Given the description of an element on the screen output the (x, y) to click on. 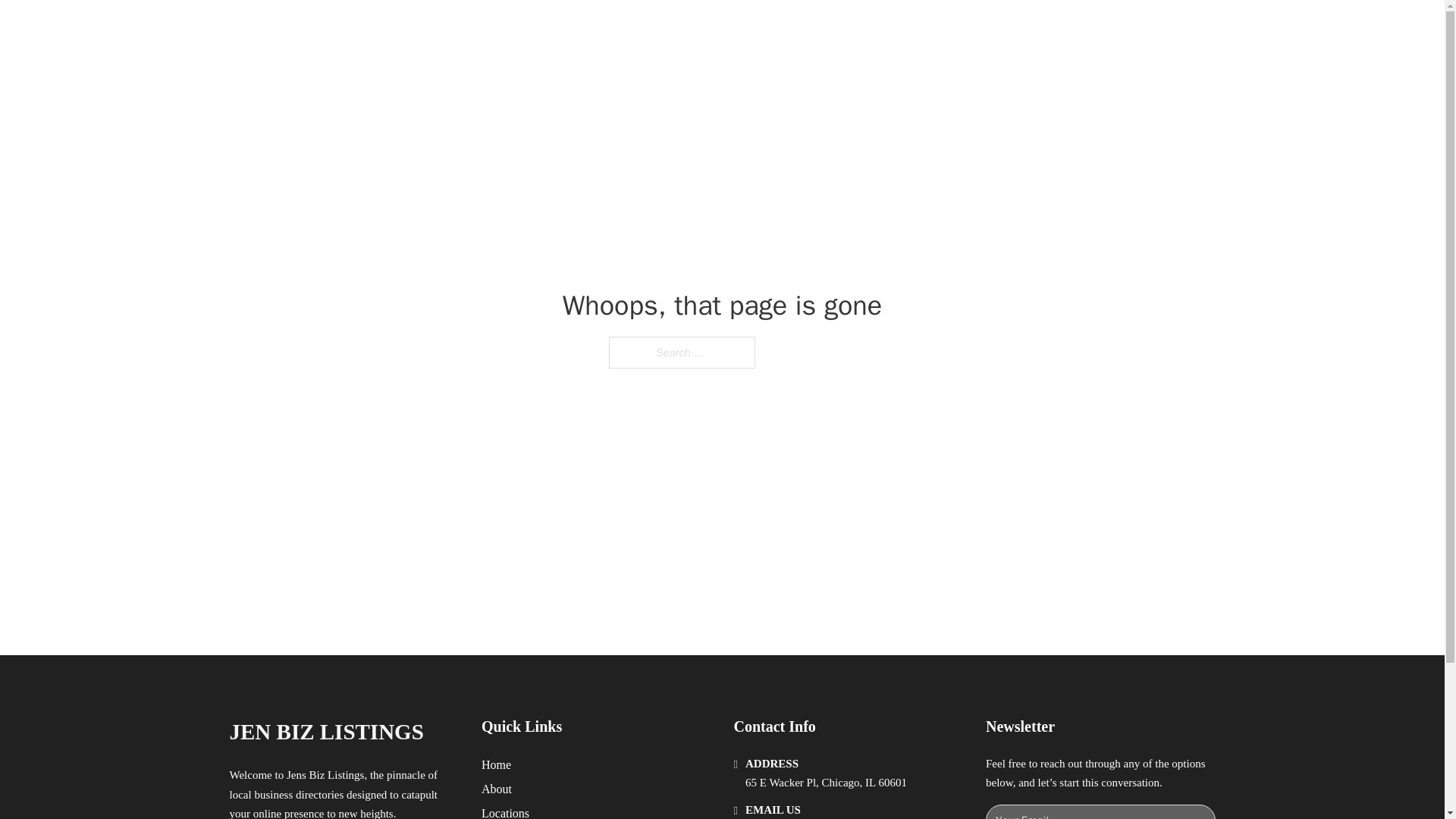
JEN BIZ LISTINGS (325, 732)
LOCATIONS (990, 29)
HOME (919, 29)
Locations (505, 811)
JENS BIZ LISTINGS (405, 28)
Home (496, 764)
About (496, 788)
